Given the description of an element on the screen output the (x, y) to click on. 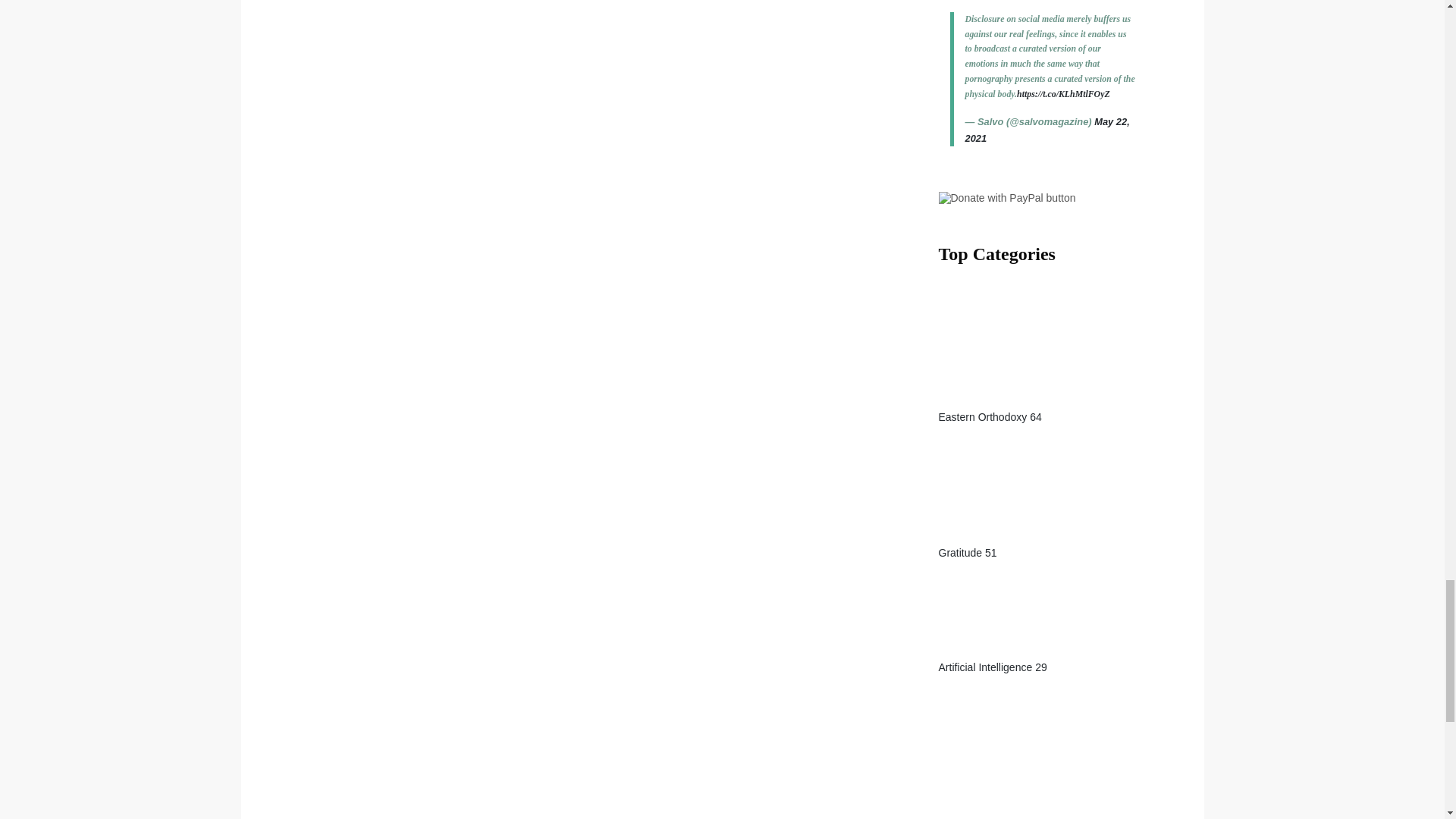
PayPal - The safer, easier way to pay online! (1007, 197)
